Given the description of an element on the screen output the (x, y) to click on. 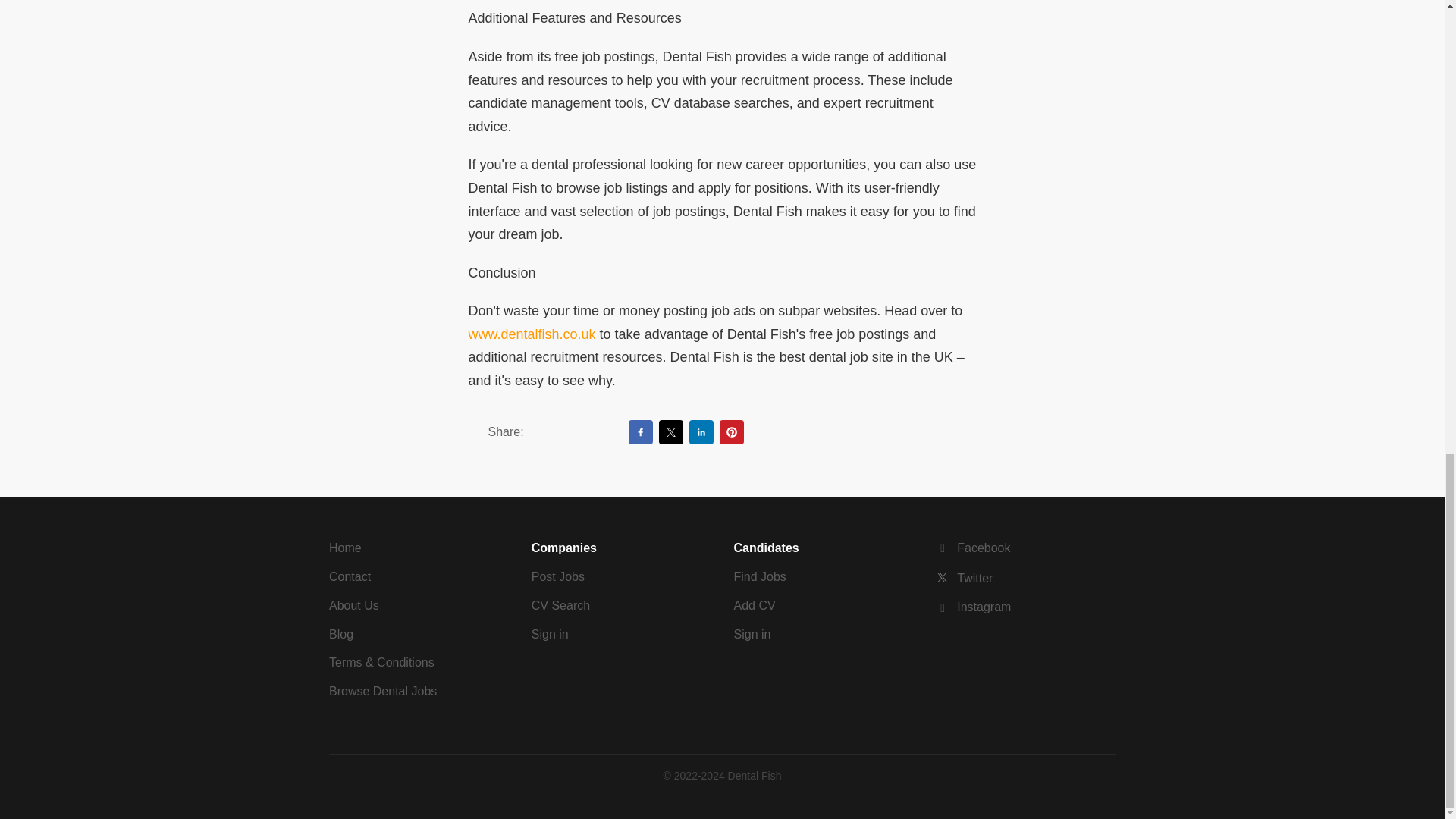
About Us (353, 604)
Post Jobs (558, 576)
www.dentalfish.co.uk (531, 334)
Sign in (752, 634)
Instagram (973, 606)
Contact (350, 576)
Twitter (964, 577)
Add CV (754, 604)
Facebook (973, 547)
Find Jobs (759, 576)
